Given the description of an element on the screen output the (x, y) to click on. 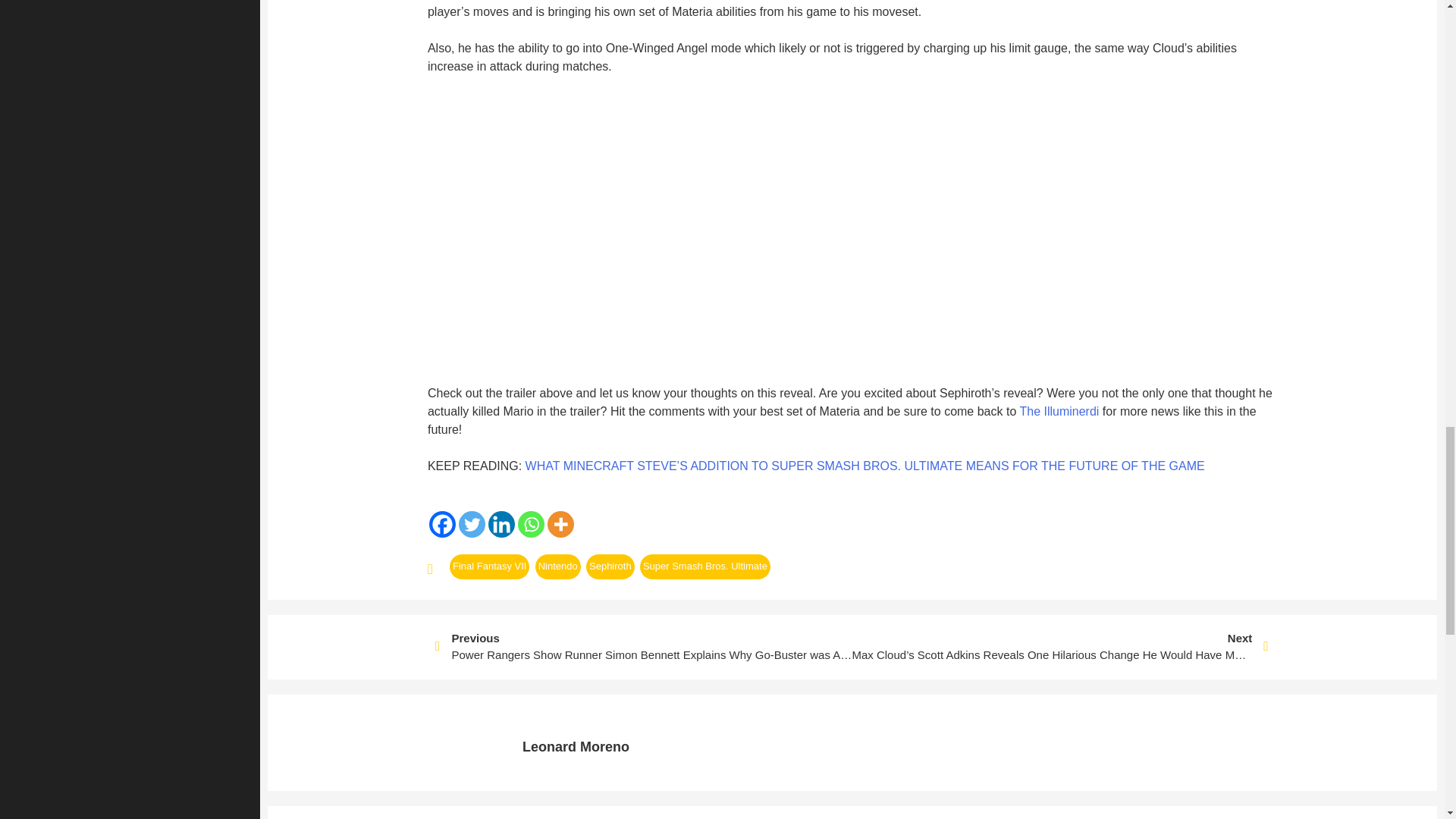
Facebook (442, 524)
Linkedin (501, 524)
Twitter (471, 524)
More (560, 524)
Whatsapp (531, 524)
